Given the description of an element on the screen output the (x, y) to click on. 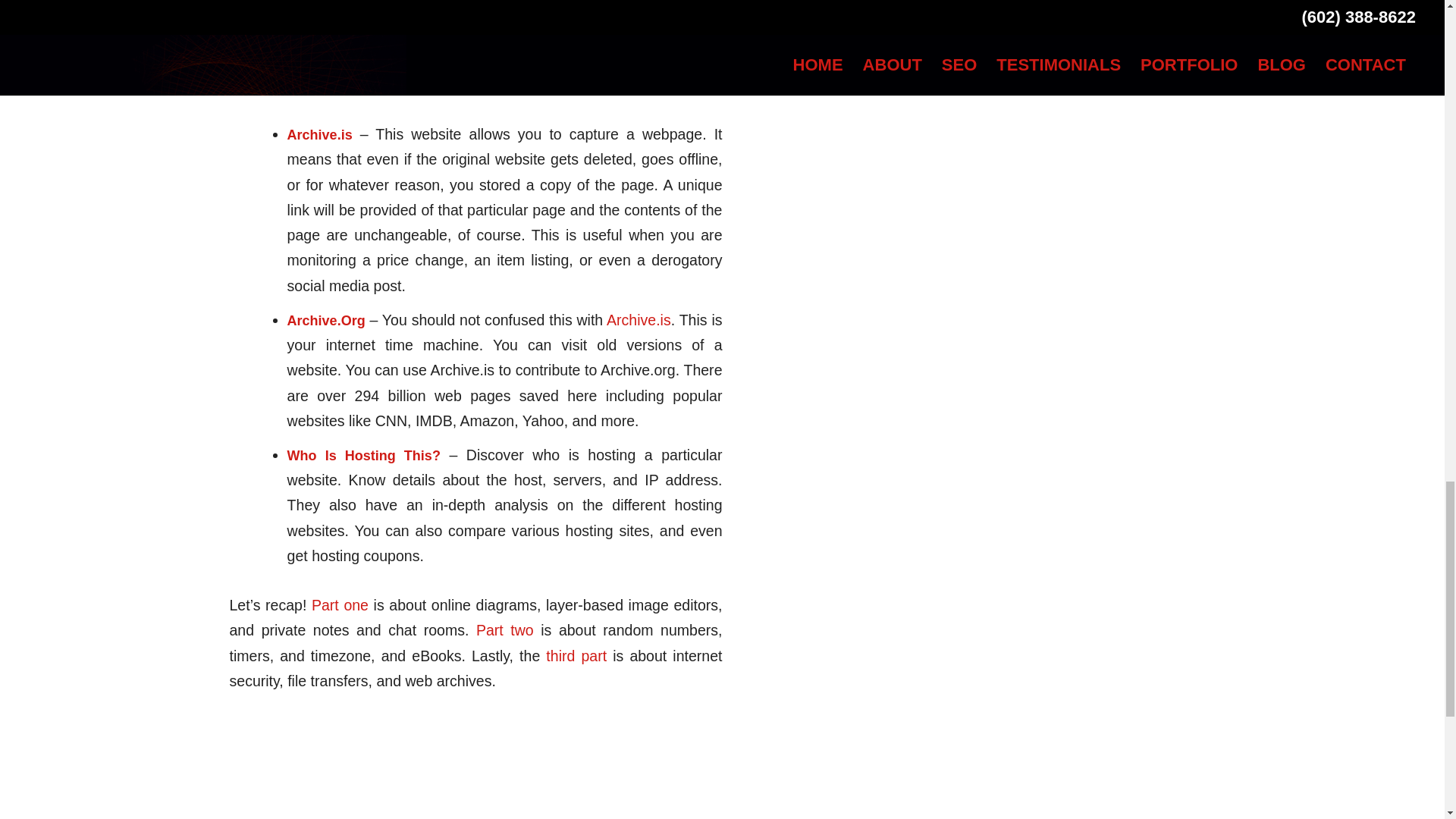
Part one (339, 605)
third part (576, 655)
Archive.Org (325, 320)
Part two (508, 629)
Who Is Hosting This? (363, 455)
Archive.is (639, 320)
Archive.is (319, 134)
